Given the description of an element on the screen output the (x, y) to click on. 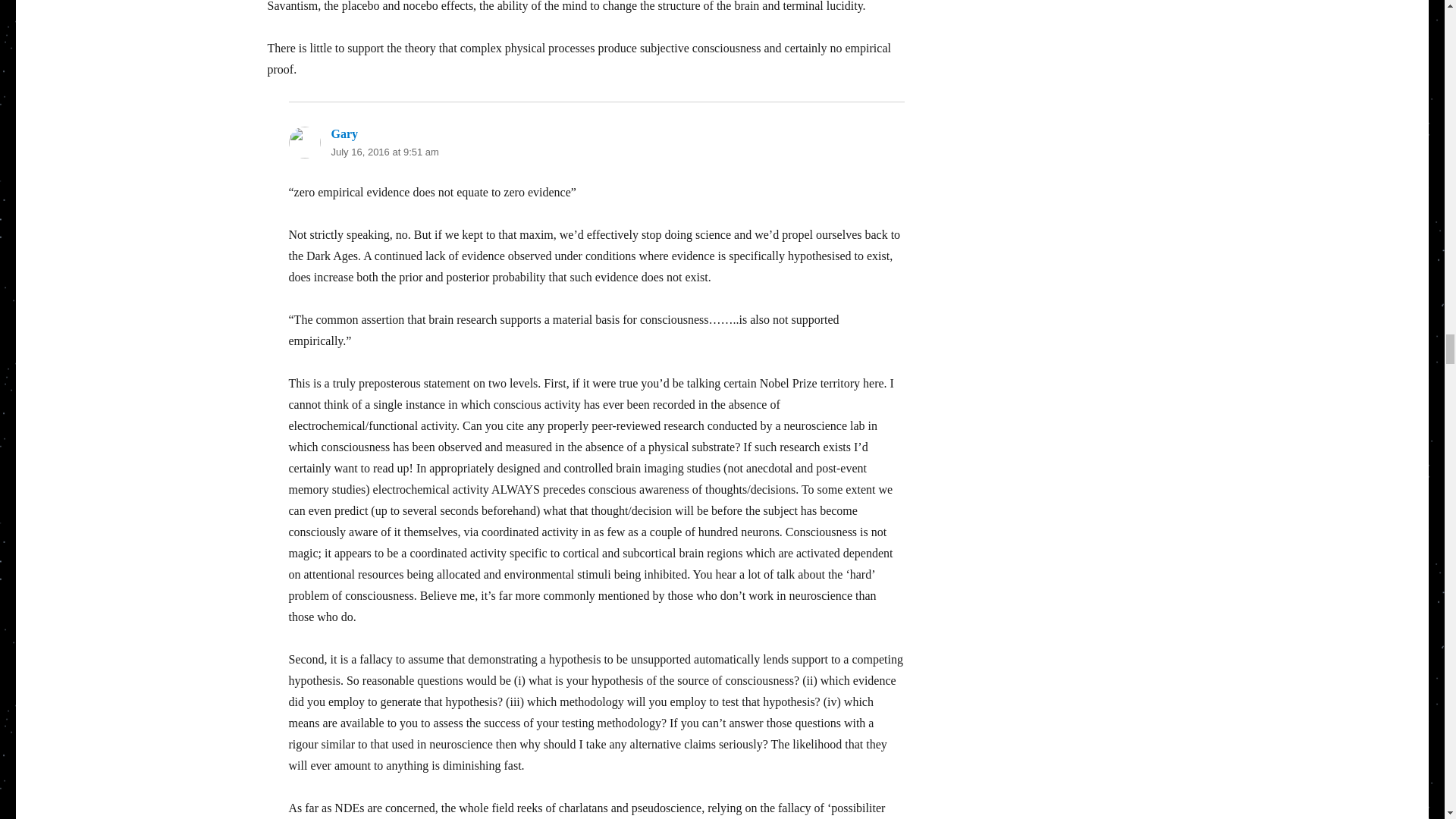
Gary (344, 133)
July 16, 2016 at 9:51 am (384, 152)
